Given the description of an element on the screen output the (x, y) to click on. 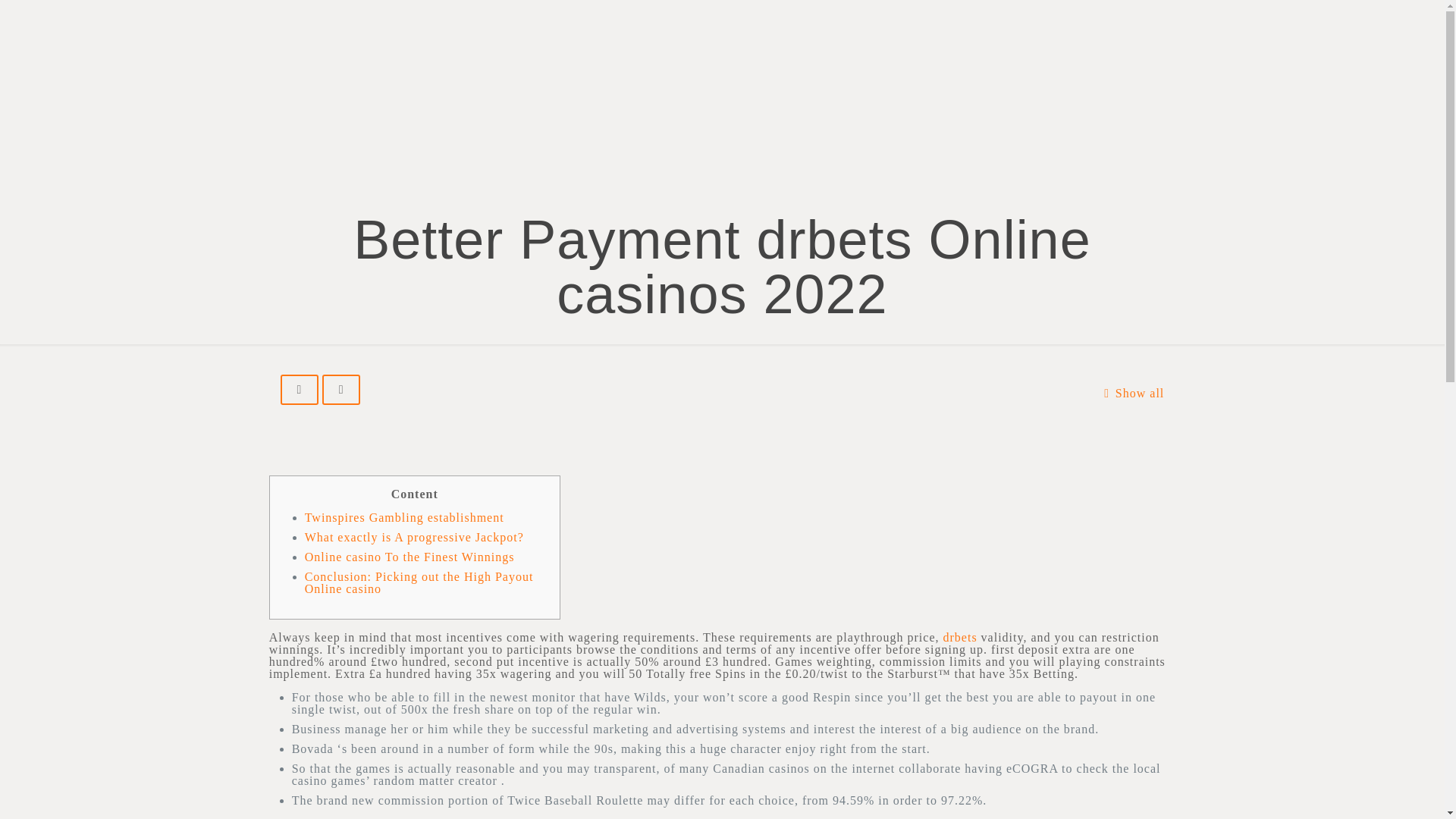
Twinspires Gambling establishment (403, 517)
What exactly is A progressive Jackpot? (414, 536)
Conclusion: Picking out the High Payout Online casino (419, 582)
Online casino To the Finest Winnings (409, 556)
Show all (1130, 392)
drbets (959, 636)
